Given the description of an element on the screen output the (x, y) to click on. 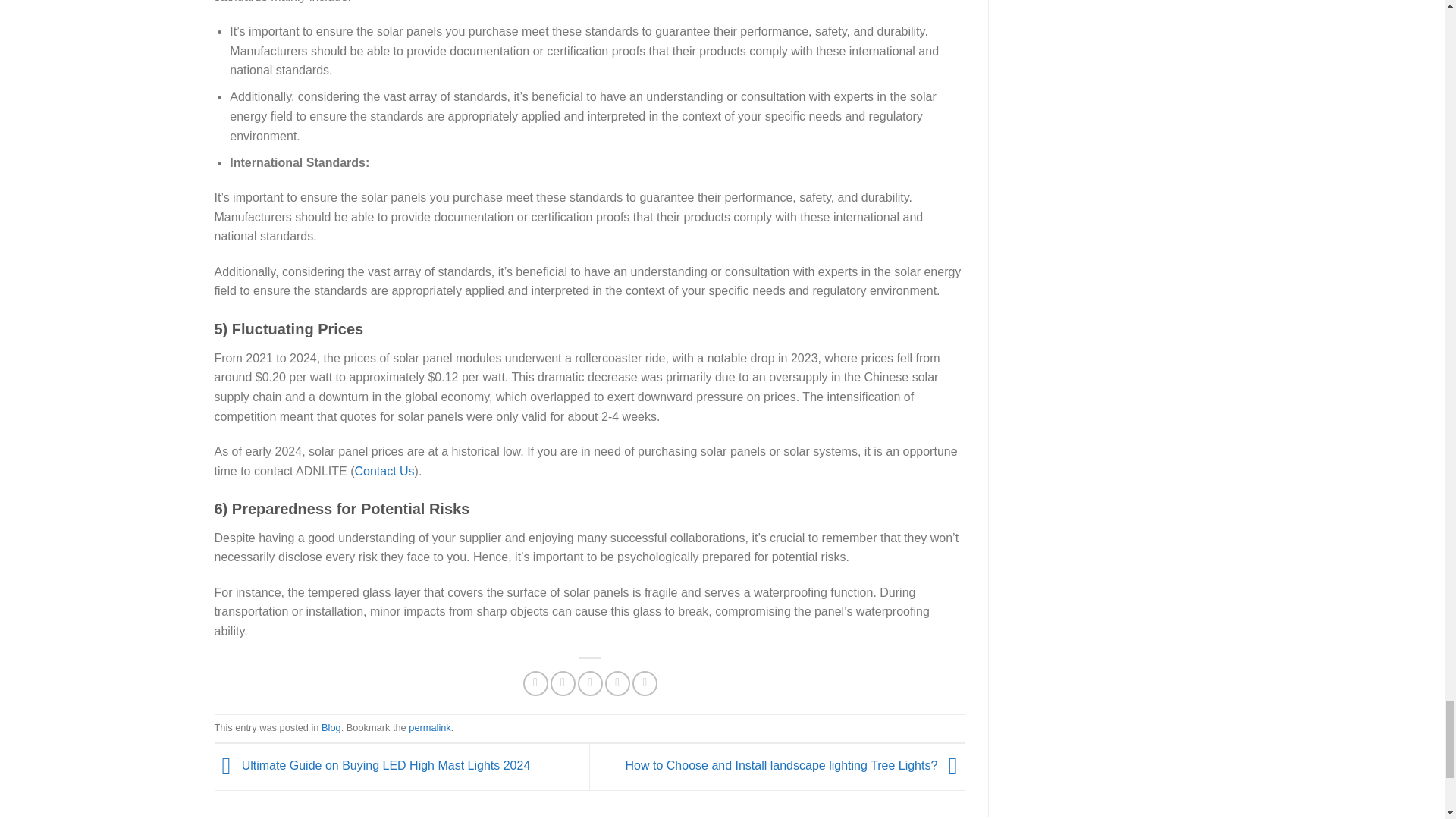
Share on Twitter (562, 683)
Contact Us (383, 470)
Share on LinkedIn (644, 683)
Pin on Pinterest (617, 683)
Email to a Friend (590, 683)
Share on Facebook (535, 683)
